Given the description of an element on the screen output the (x, y) to click on. 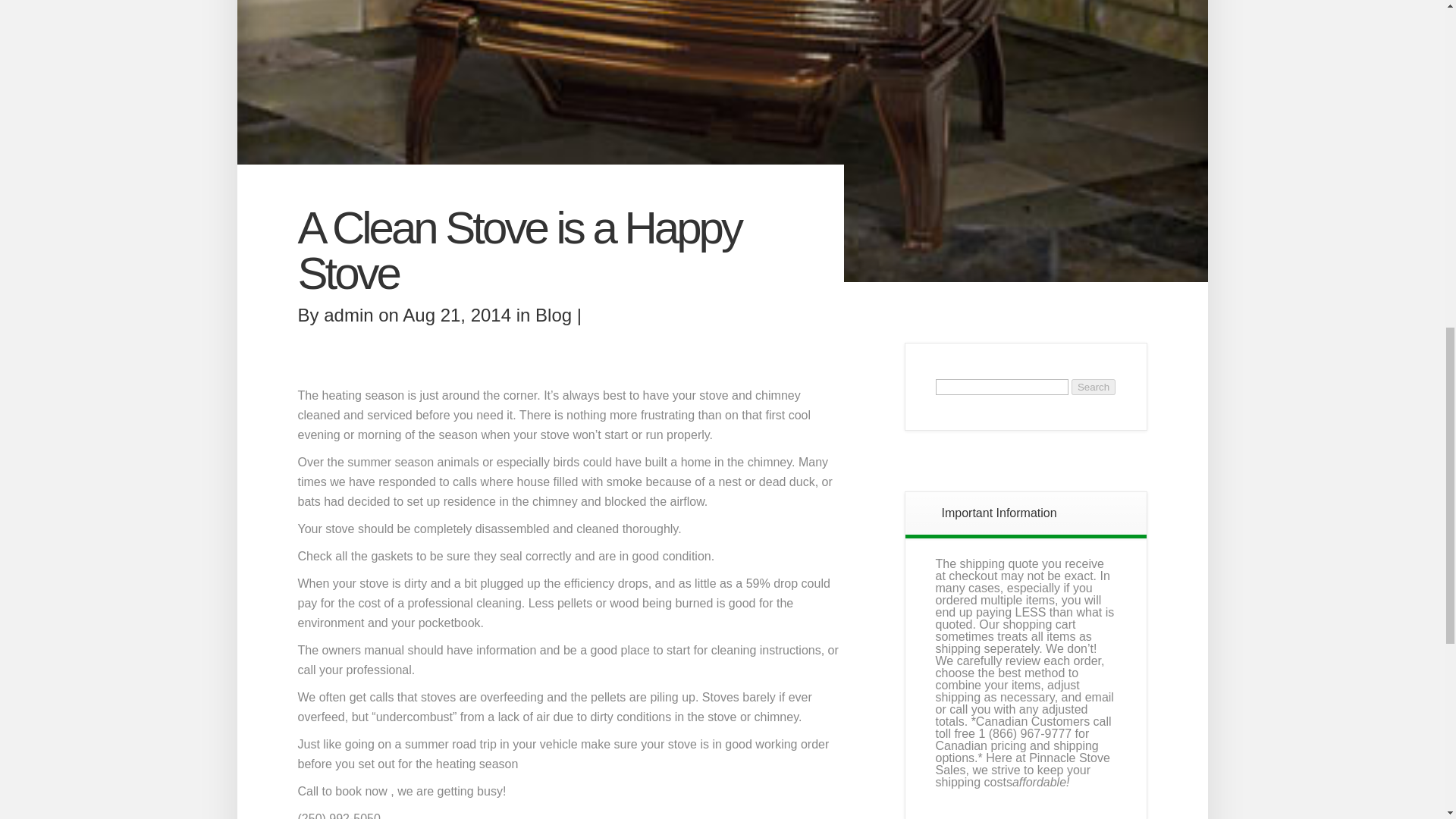
Search (1093, 386)
Blog (553, 314)
admin (347, 314)
Posts by admin (347, 314)
Search (1093, 386)
